Given the description of an element on the screen output the (x, y) to click on. 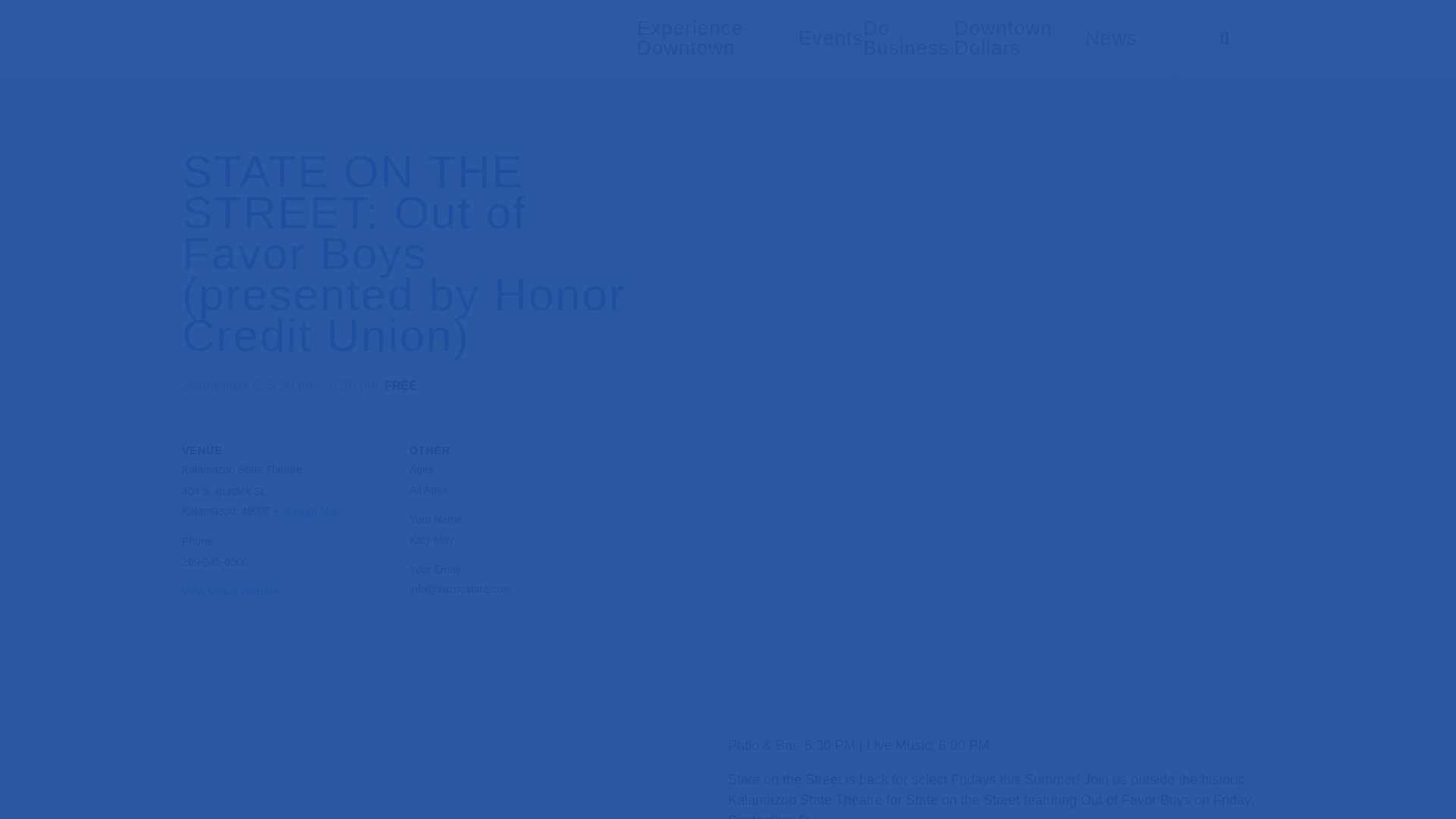
Experience Downtown (689, 37)
Downtown Dollars (1002, 37)
Click to view a Google Map (306, 510)
Do Business (906, 37)
Events (830, 37)
News (1110, 37)
View Venue Website (230, 591)
